Given the description of an element on the screen output the (x, y) to click on. 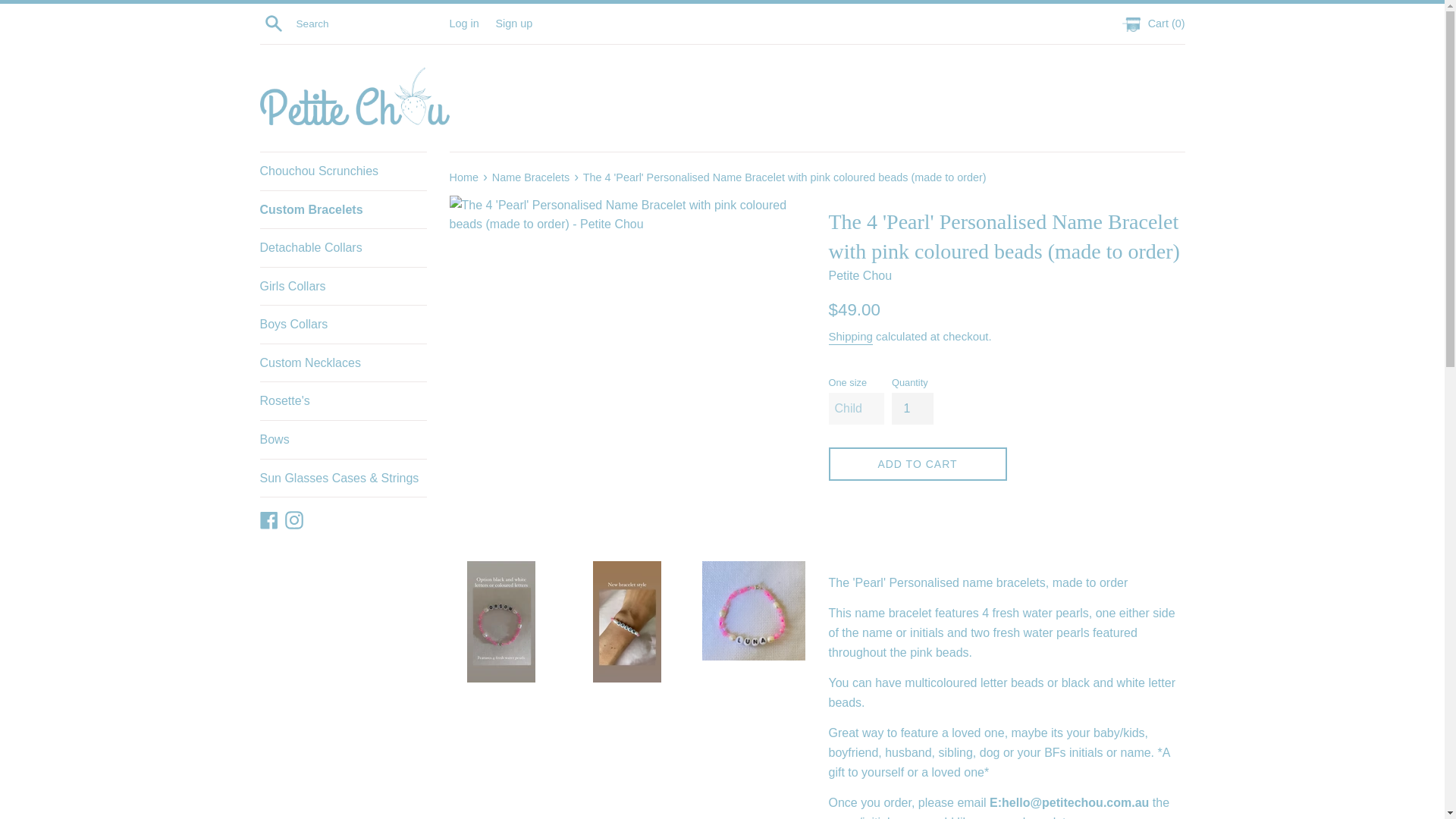
Instagram (293, 518)
Chouchou Scrunchies (342, 171)
Boys Collars (342, 324)
Custom Necklaces (342, 362)
Rosette's (342, 401)
Sign up (513, 22)
Home (464, 177)
ADD TO CART (917, 464)
Name Bracelets (532, 177)
Back to the frontpage (464, 177)
